Given the description of an element on the screen output the (x, y) to click on. 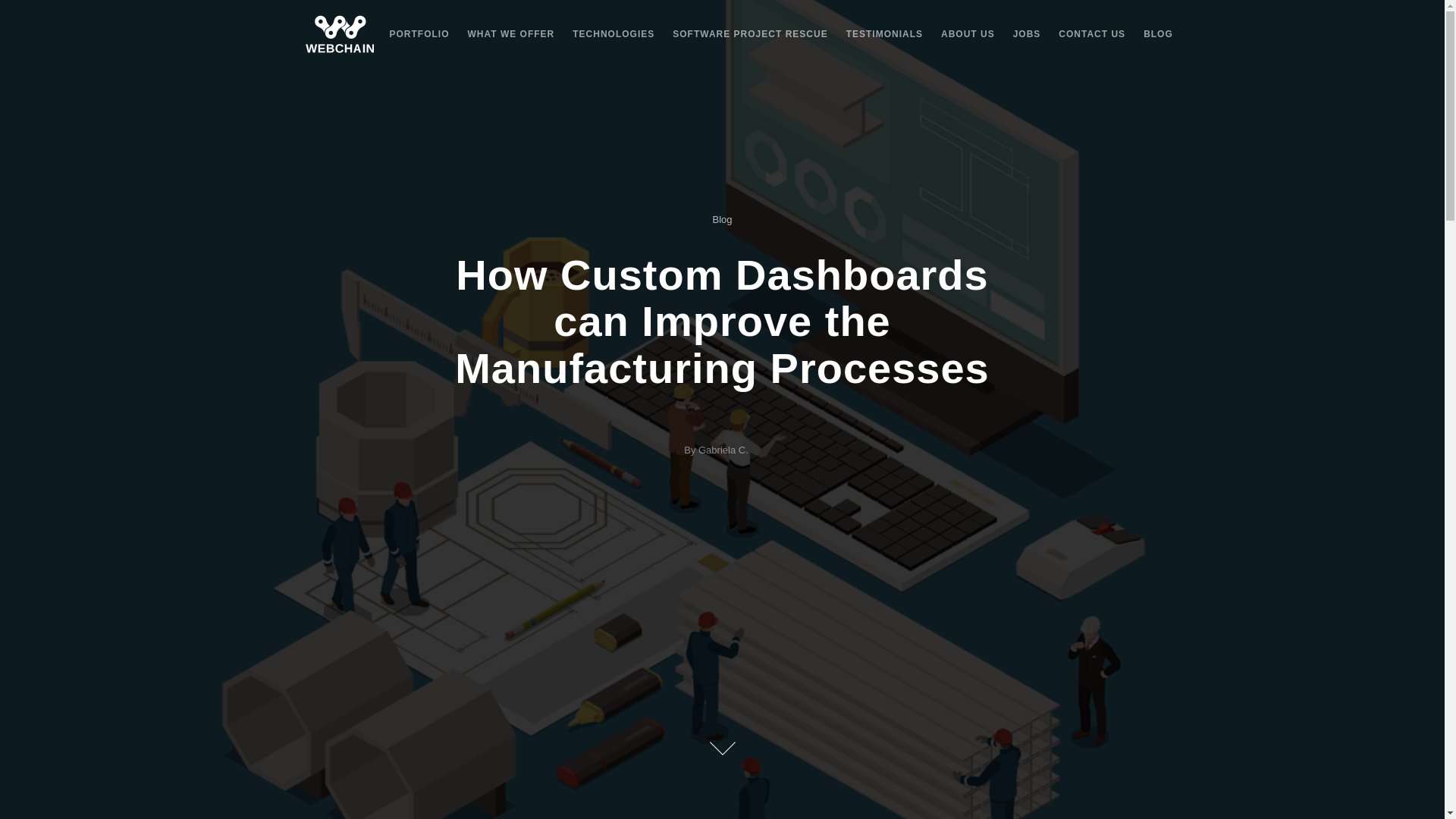
TESTIMONIALS (884, 33)
CONTACT US (1091, 33)
TECHNOLOGIES (612, 33)
WHAT WE OFFER (510, 33)
SOFTWARE PROJECT RESCUE (749, 33)
Blog (722, 219)
